Given the description of an element on the screen output the (x, y) to click on. 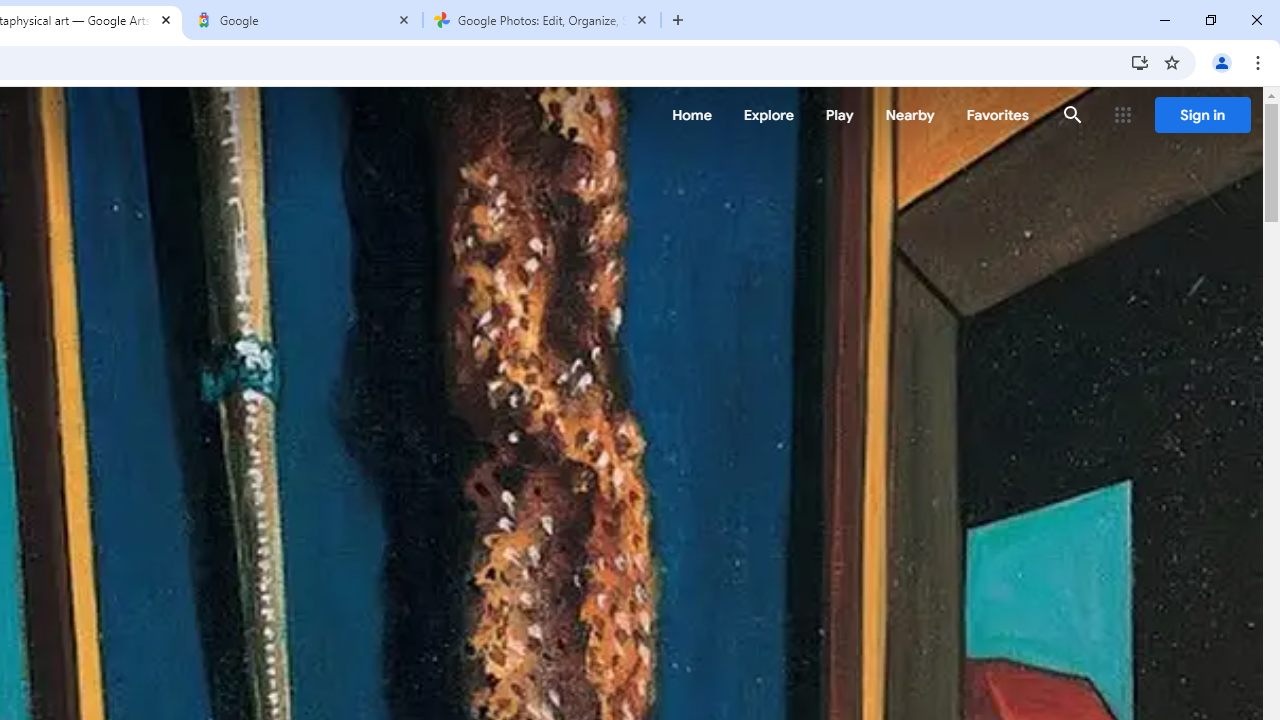
Home (691, 115)
Favorites (996, 115)
Explore (768, 115)
Google (304, 20)
Play (840, 115)
Nearby (910, 115)
